Given the description of an element on the screen output the (x, y) to click on. 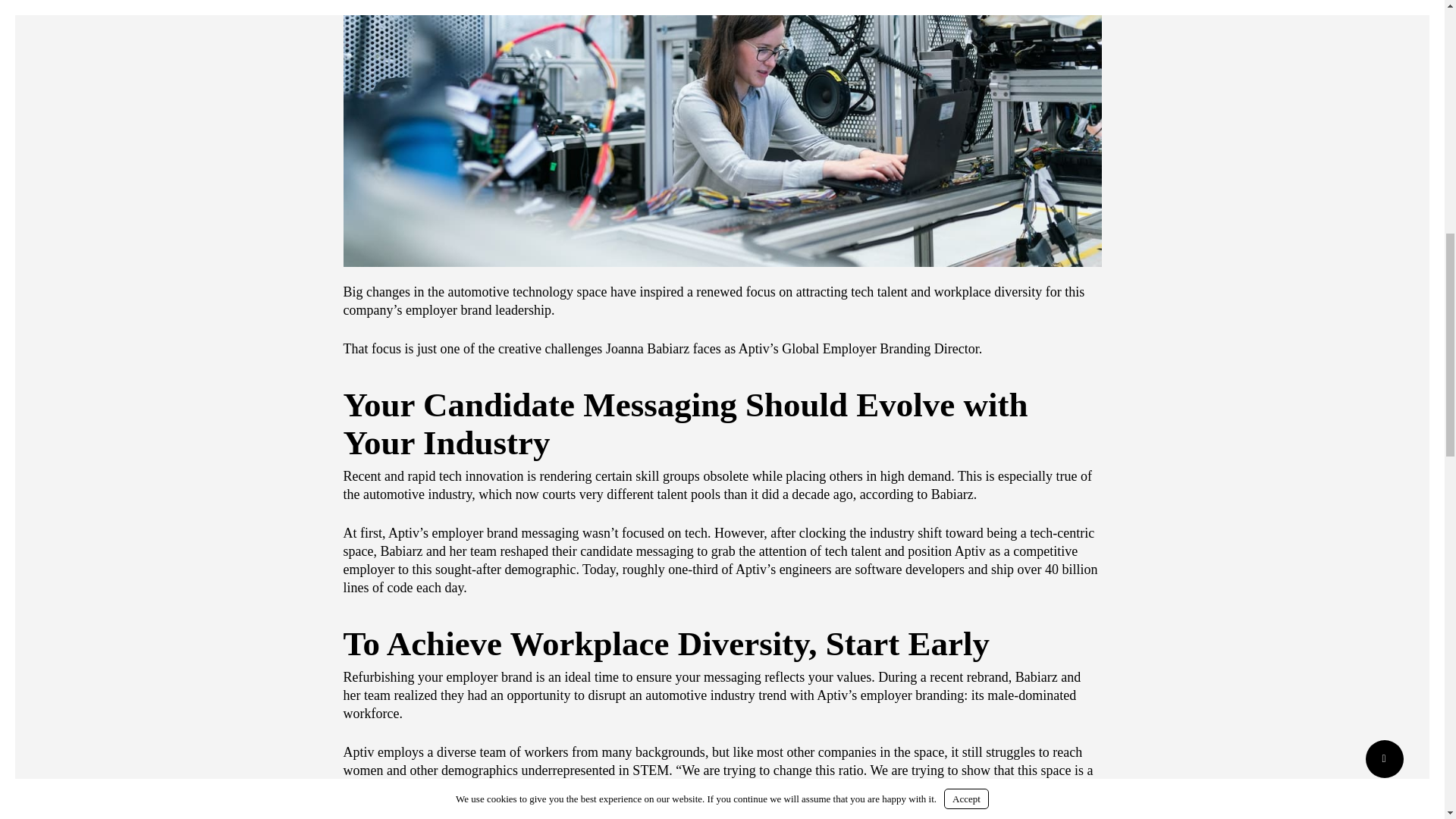
grab the attention of tech talent (795, 550)
rendering certain skill groups obsolete (643, 476)
